Given the description of an element on the screen output the (x, y) to click on. 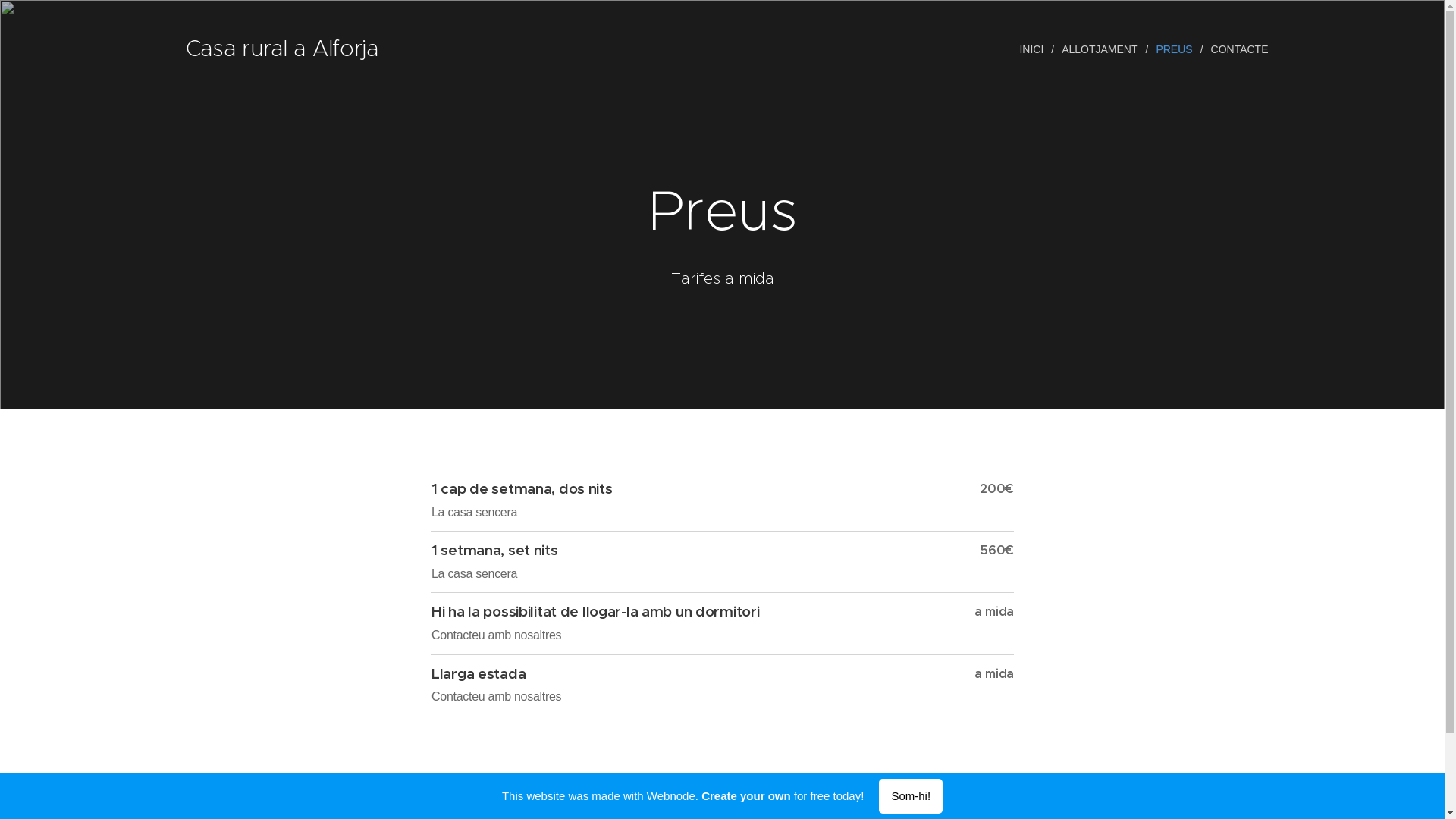
ALLOTJAMENT Element type: text (1101, 49)
Casa rural a Alforja  Element type: text (282, 49)
CONTACTE Element type: text (1235, 49)
PREUS Element type: text (1175, 49)
INICI Element type: text (1034, 49)
